Given the description of an element on the screen output the (x, y) to click on. 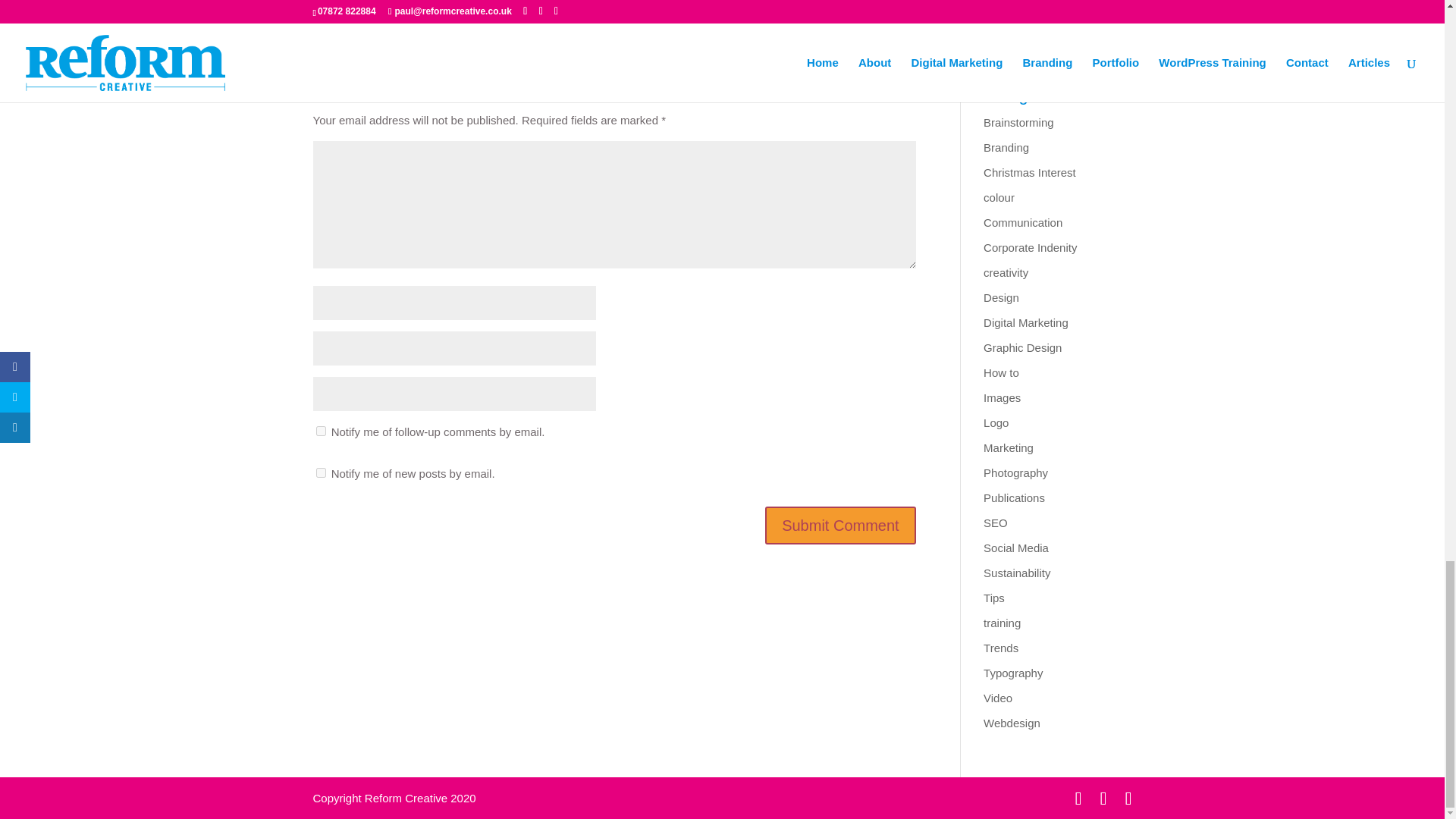
Submit Comment (840, 525)
Submit Comment (840, 525)
subscribe (319, 430)
subscribe (319, 472)
